Given the description of an element on the screen output the (x, y) to click on. 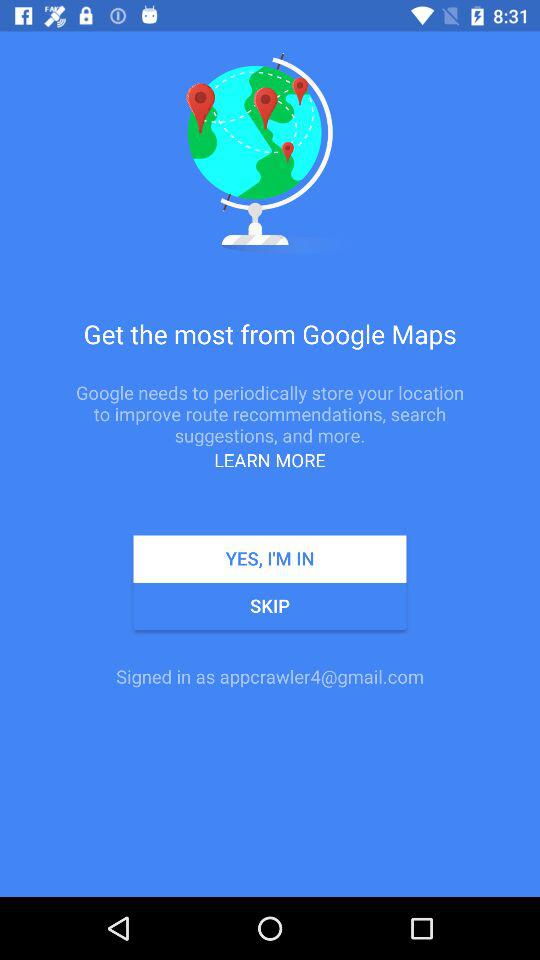
turn on the app above the signed in as icon (269, 606)
